Given the description of an element on the screen output the (x, y) to click on. 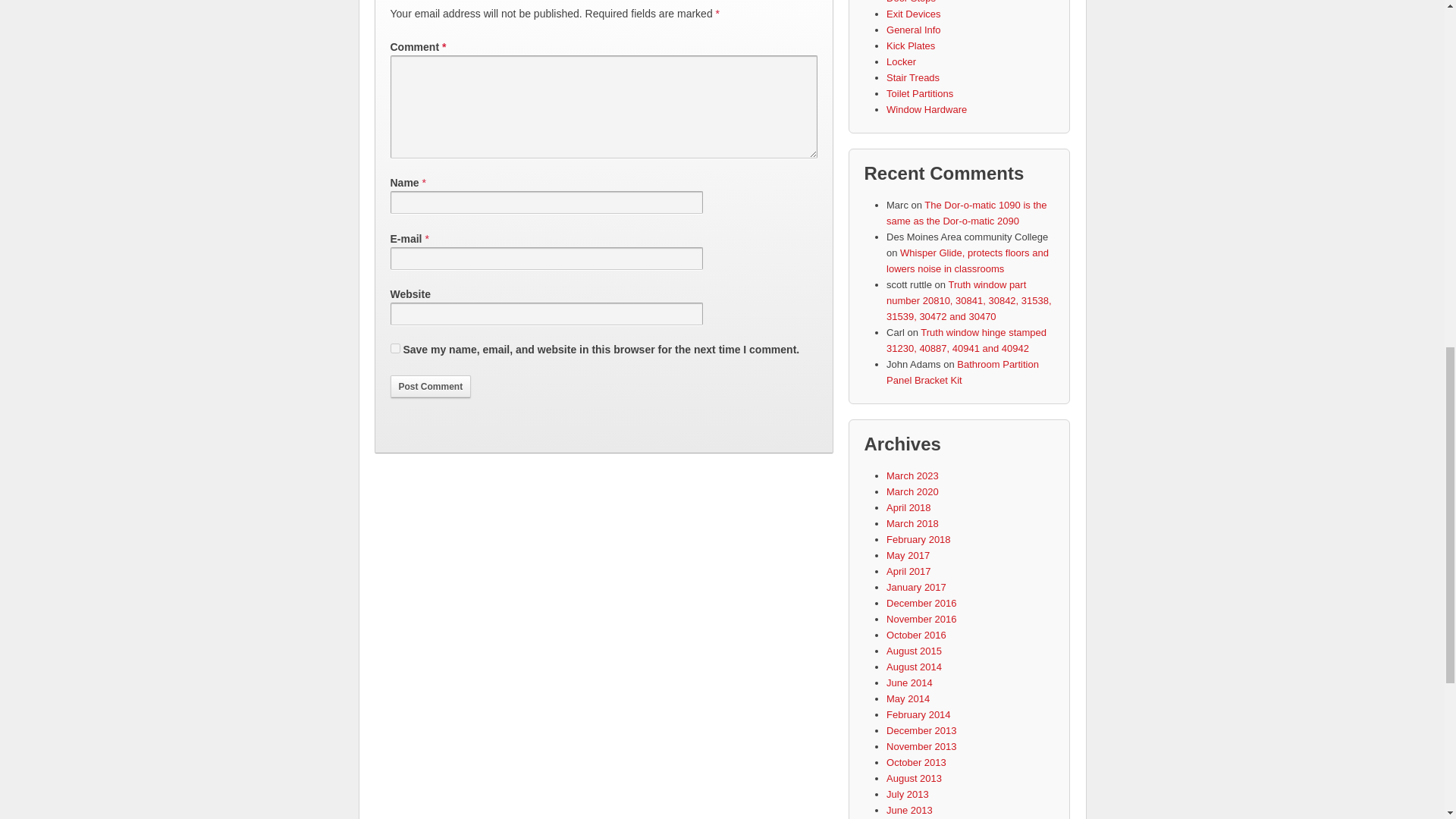
Post Comment (430, 386)
Post Comment (430, 386)
yes (394, 347)
